Given the description of an element on the screen output the (x, y) to click on. 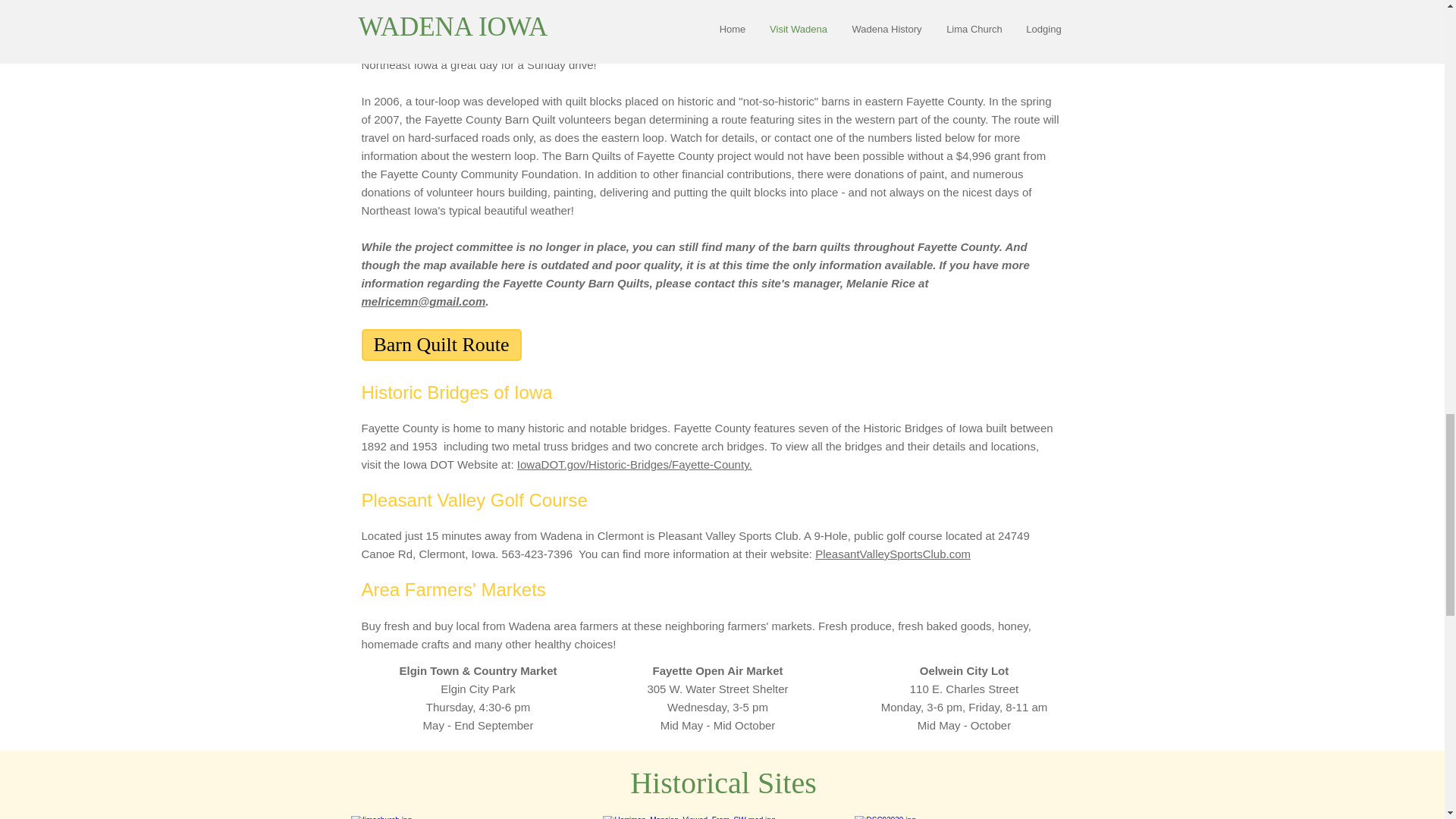
PleasantValleySportsClub.com (893, 553)
Barn Quilt Route (441, 345)
